Given the description of an element on the screen output the (x, y) to click on. 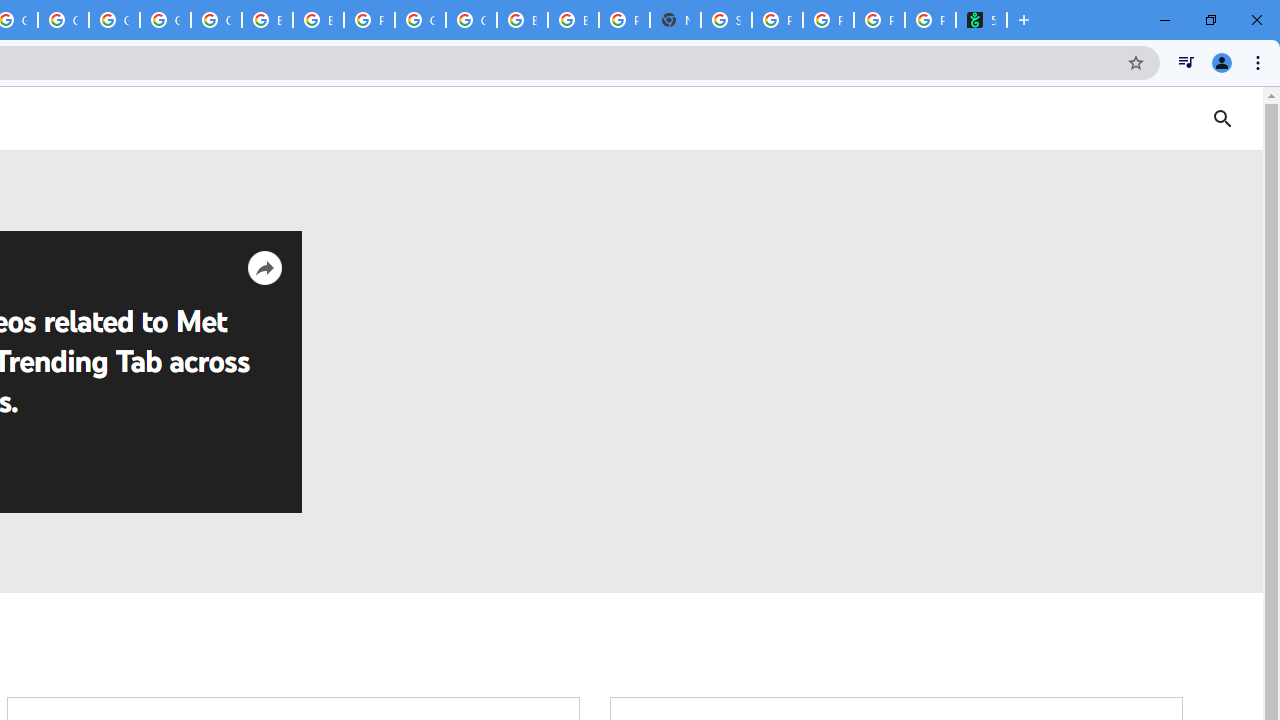
Google Cloud Platform (470, 20)
Toggle share toolbar open/closed (264, 268)
